Given the description of an element on the screen output the (x, y) to click on. 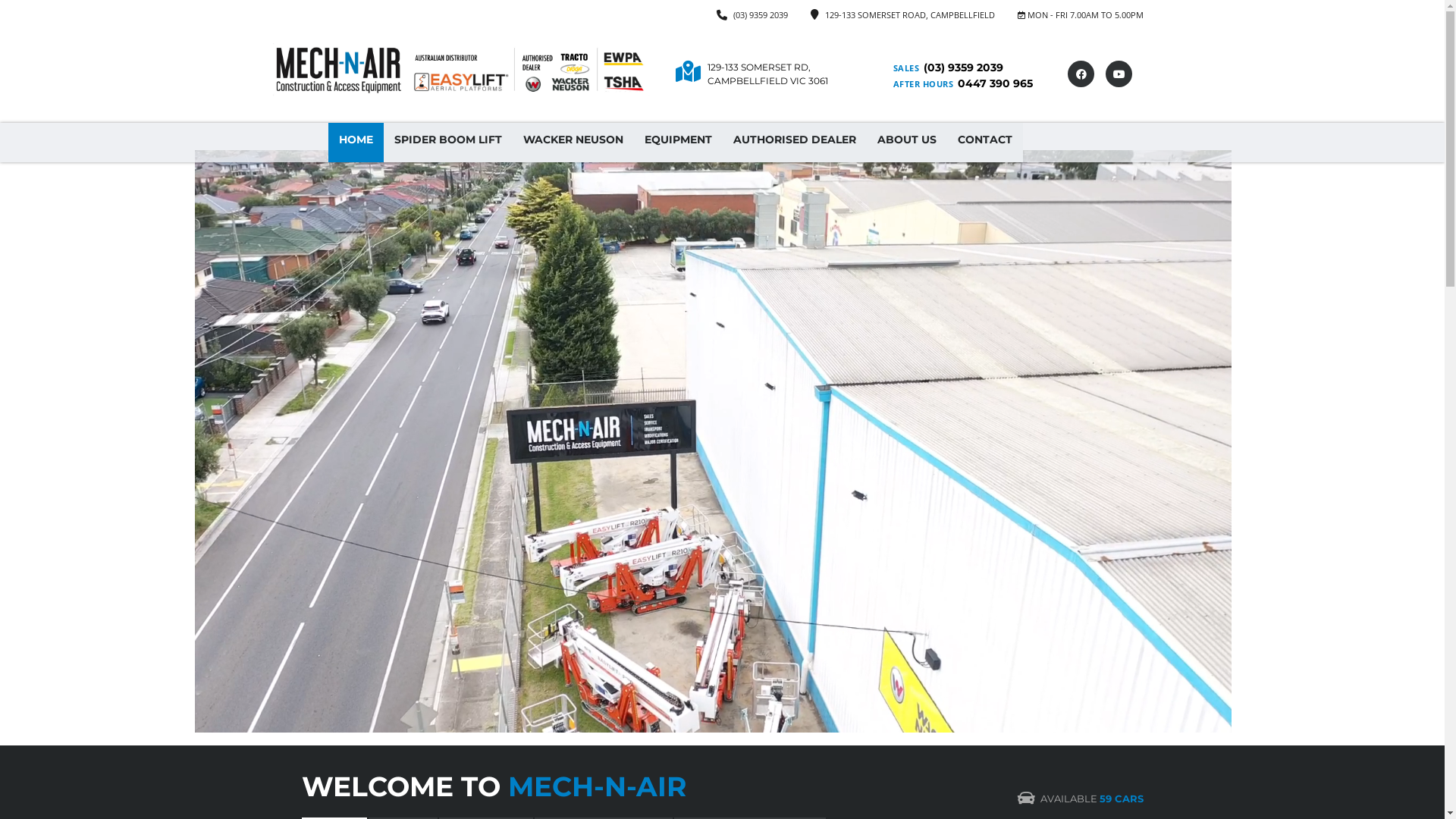
EQUIPMENT Element type: text (677, 142)
SPIDER BOOM LIFT Element type: text (447, 142)
WACKER NEUSON Element type: text (572, 142)
0447 390 965 Element type: text (994, 83)
(03) 9359 2039 Element type: text (963, 67)
(03) 9359 2039 Element type: text (759, 14)
ABOUT US Element type: text (906, 142)
Home Element type: hover (460, 70)
HOME Element type: text (354, 142)
AUTHORISED DEALER Element type: text (793, 142)
CONTACT Element type: text (984, 142)
